Given the description of an element on the screen output the (x, y) to click on. 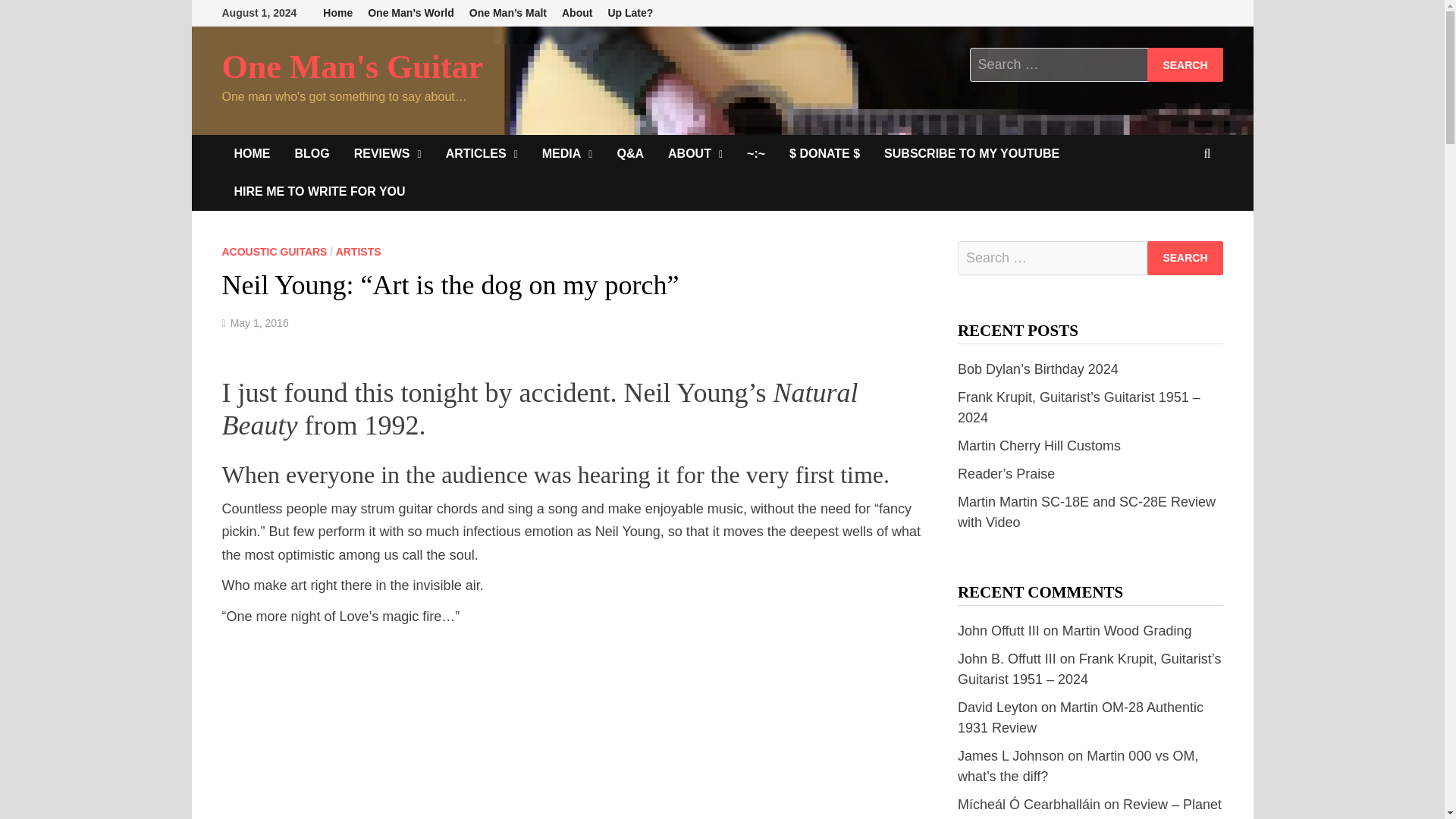
Search (1185, 64)
Search (1185, 257)
Search (1185, 64)
About (576, 13)
Home (337, 13)
BLOG (311, 153)
The Word on Guitars (311, 153)
HOME (251, 153)
One Man's Guitar (352, 66)
REVIEWS (387, 153)
